Given the description of an element on the screen output the (x, y) to click on. 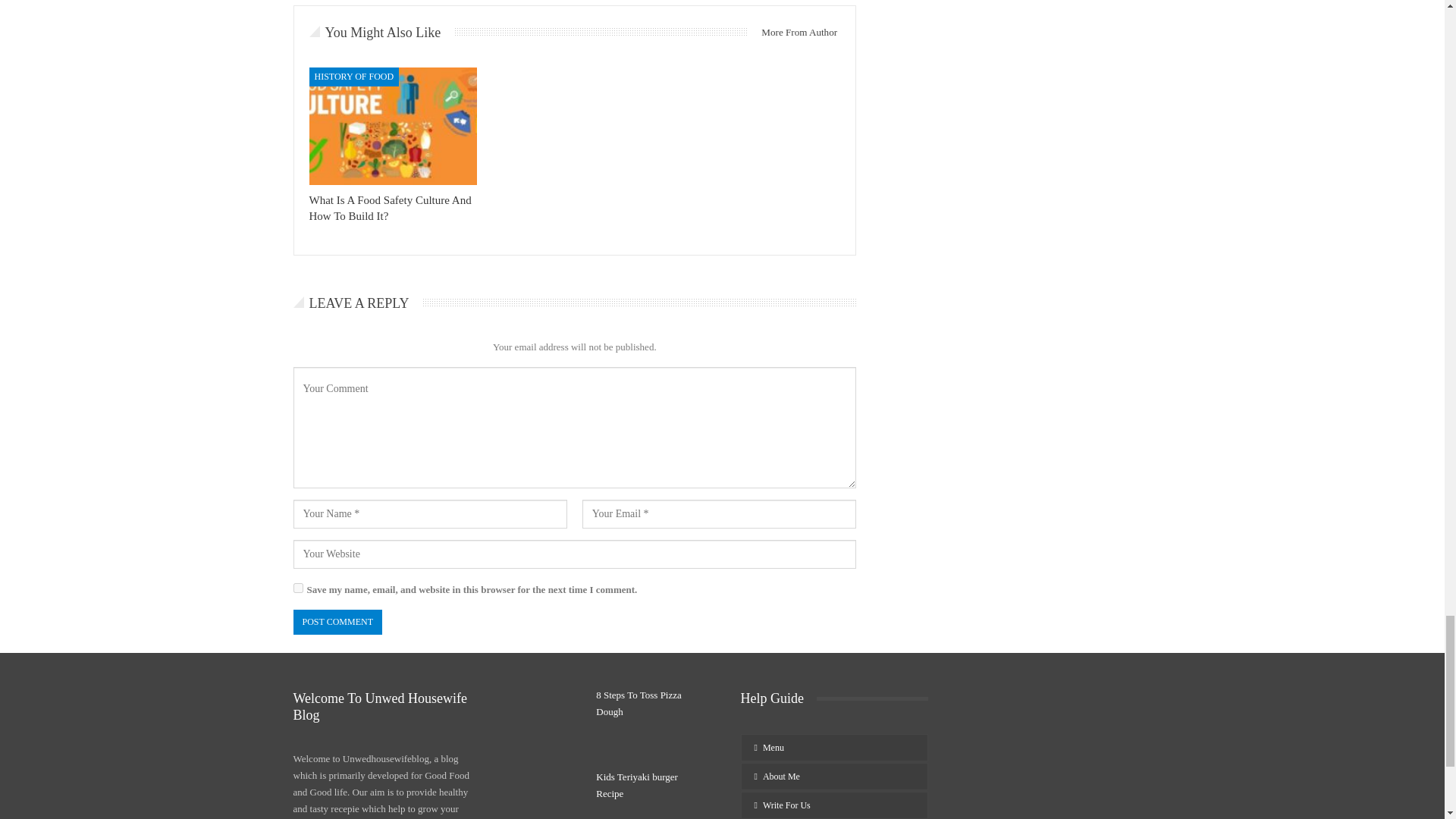
yes (297, 587)
What Is A Food Safety Culture And How To Build It? (392, 126)
What Is A Food Safety Culture And How To Build It? (389, 207)
Post Comment (336, 621)
